Given the description of an element on the screen output the (x, y) to click on. 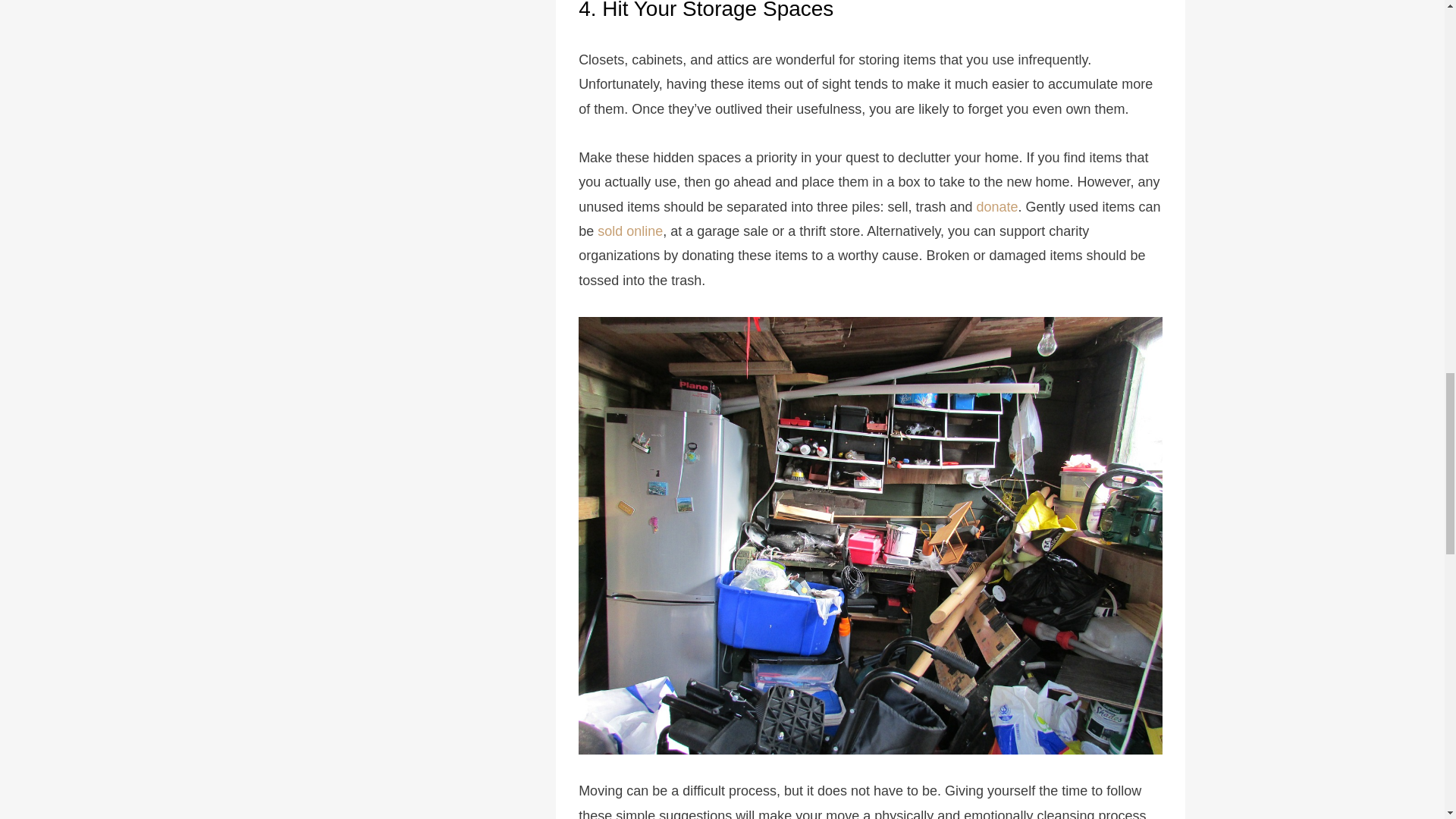
sold online (629, 231)
donate (996, 206)
